Given the description of an element on the screen output the (x, y) to click on. 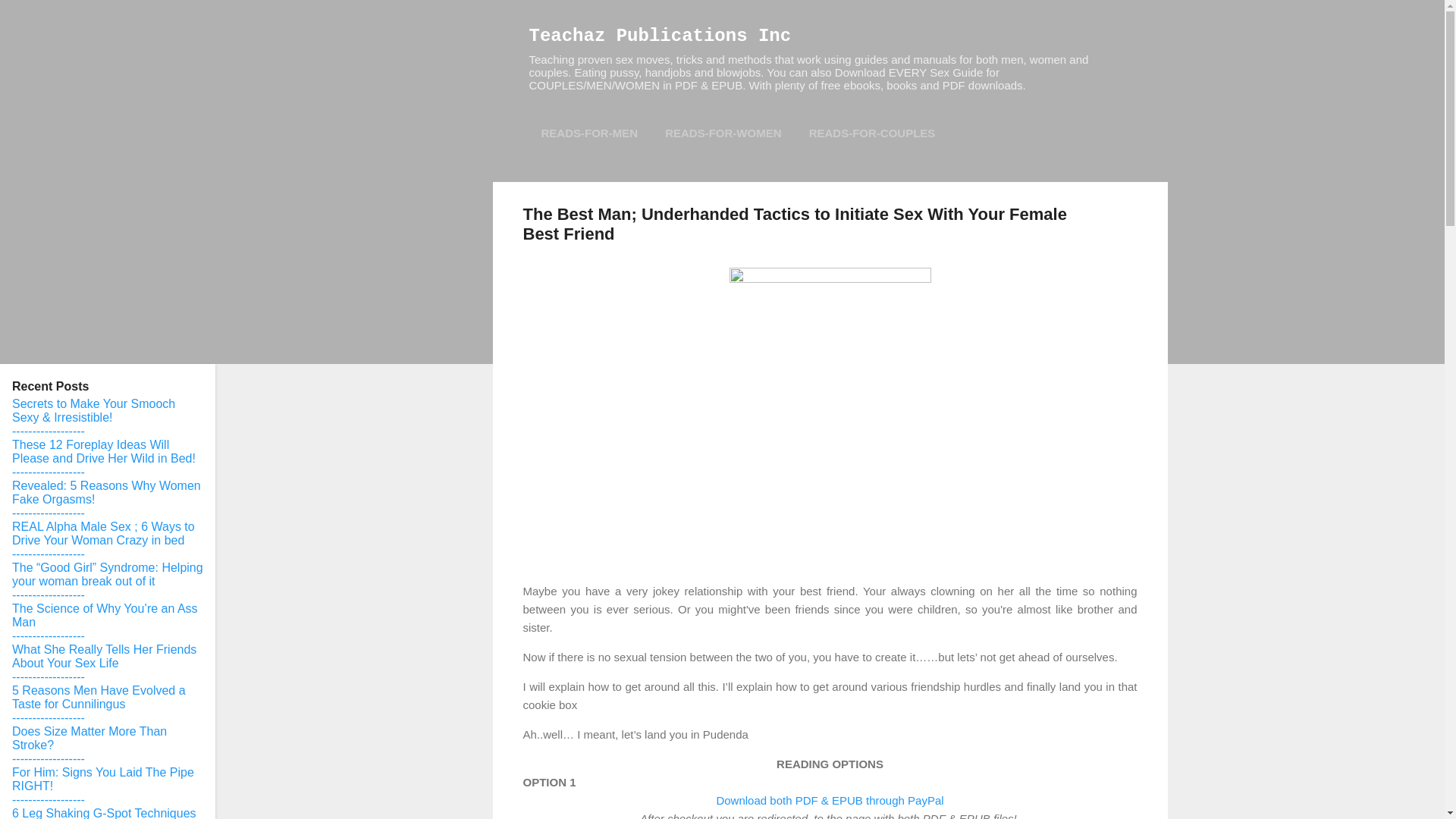
READS-FOR-WOMEN (723, 133)
READS-FOR-MEN (590, 133)
READS-FOR-COUPLES (872, 133)
Teachaz Publications Inc (660, 35)
Search (29, 18)
